Given the description of an element on the screen output the (x, y) to click on. 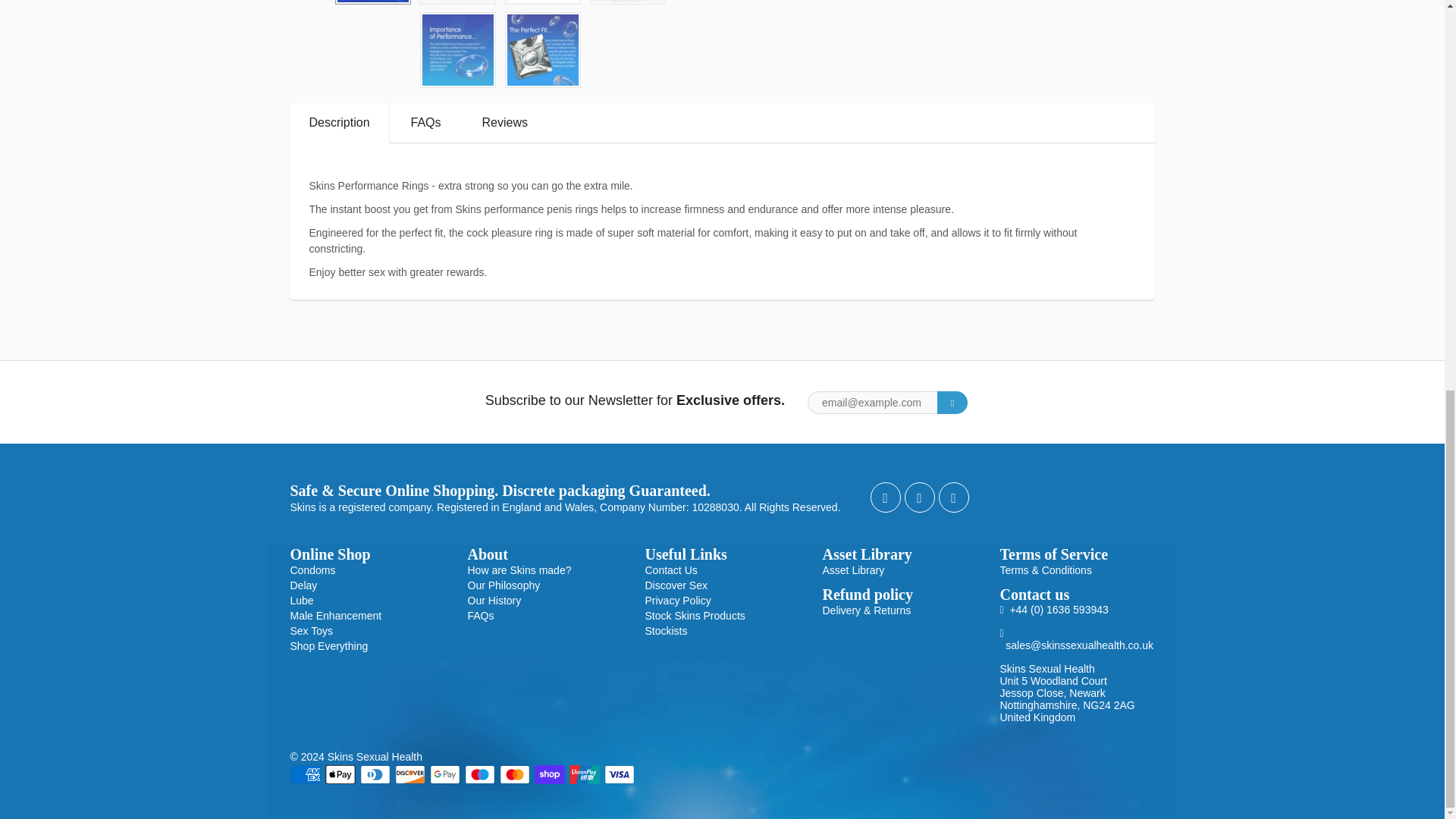
Twitter (885, 497)
American Express (304, 773)
Skins Performance Ring - Skins Sexual Health (372, 2)
Diners Club (374, 773)
Skins Performance Ring - Skins Sexual Health (458, 2)
Skins Performance Ring - Skins Sexual Health (542, 49)
Skins Performance Ring - Skins Sexual Health (542, 2)
Skins Performance Ring - Skins Sexual Health (458, 49)
Discover (409, 773)
Apple Pay (339, 773)
